Given the description of an element on the screen output the (x, y) to click on. 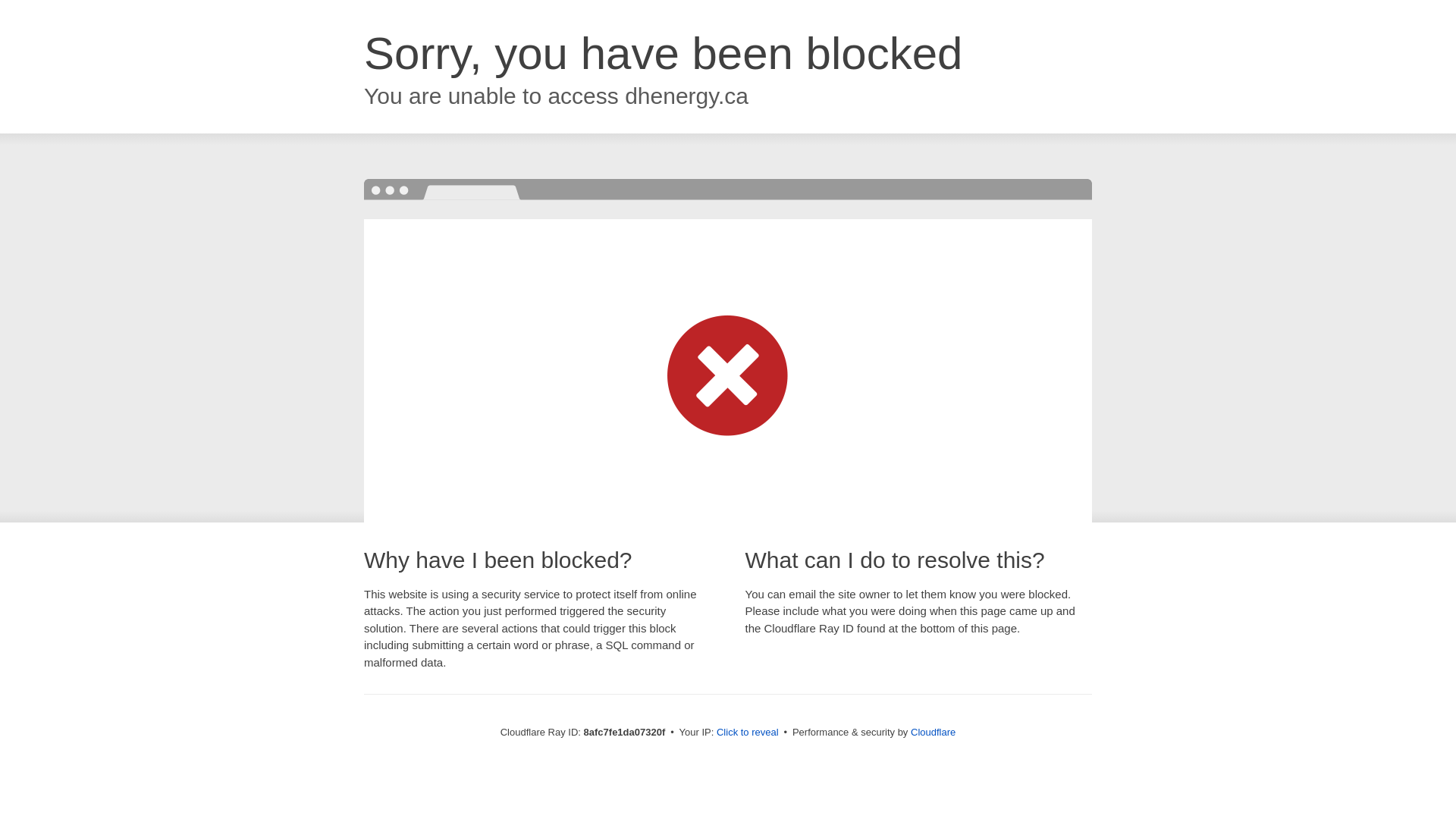
Cloudflare (933, 731)
Click to reveal (747, 732)
